Given the description of an element on the screen output the (x, y) to click on. 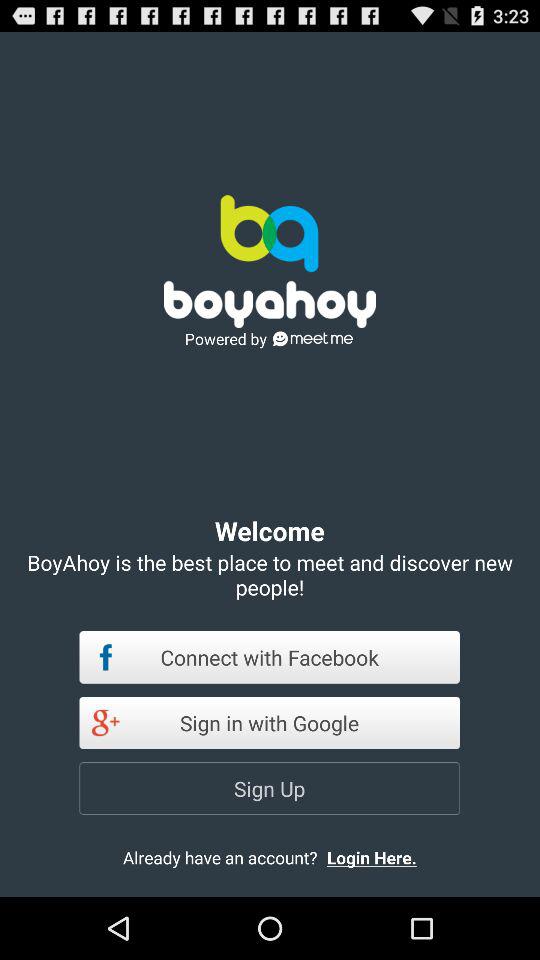
jump to connect with facebook (269, 657)
